Given the description of an element on the screen output the (x, y) to click on. 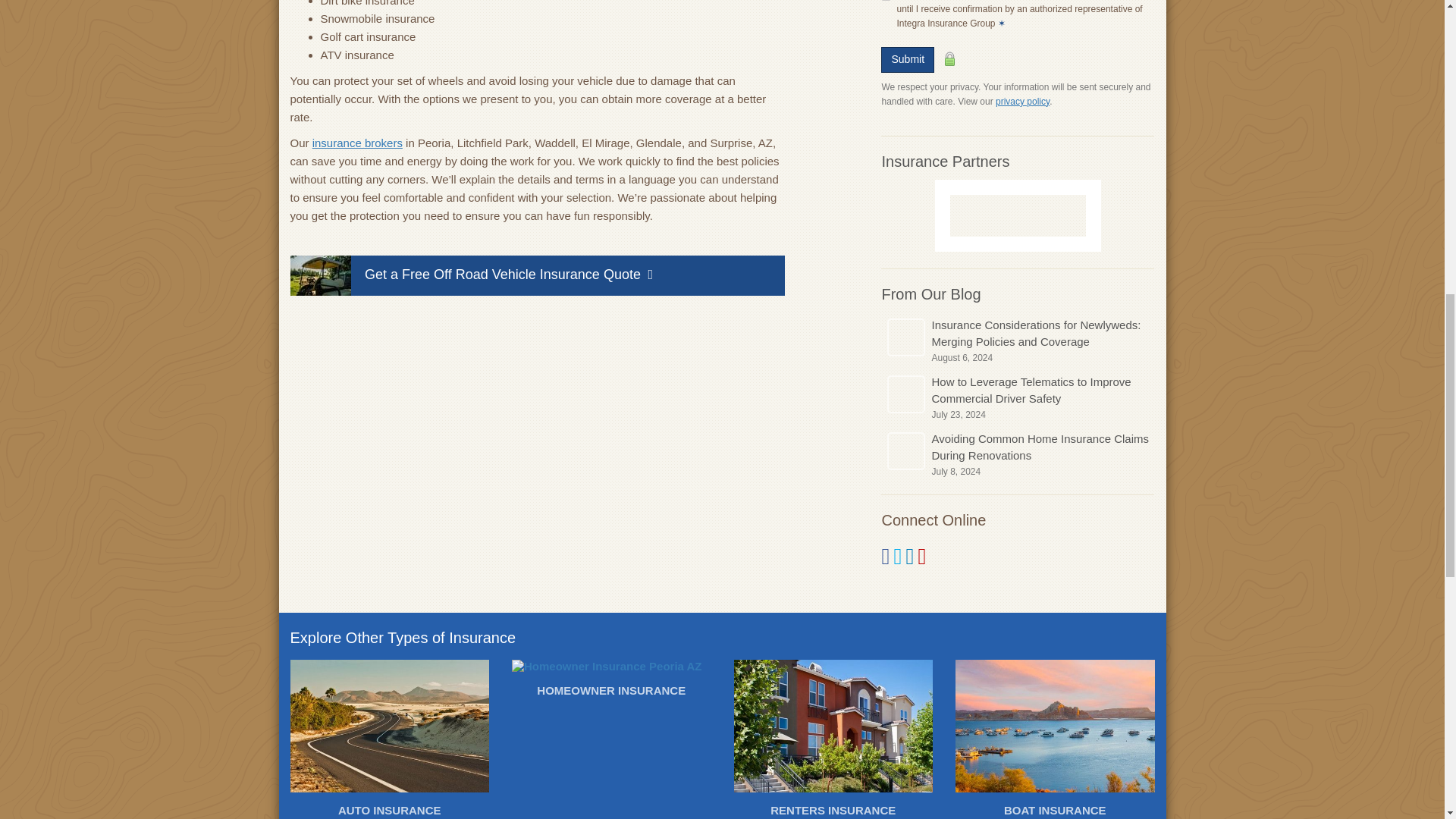
Renters Insurance Peoria AZ (832, 739)
Homeowner Insurance Peoria AZ (611, 682)
Submit (907, 59)
Insurance Partners (944, 161)
Insurance Partners (944, 161)
Opens in a new window (1022, 101)
Get a Free Off Road Vehicle Insurance Quote (536, 275)
RENTERS INSURANCE (832, 739)
